Given the description of an element on the screen output the (x, y) to click on. 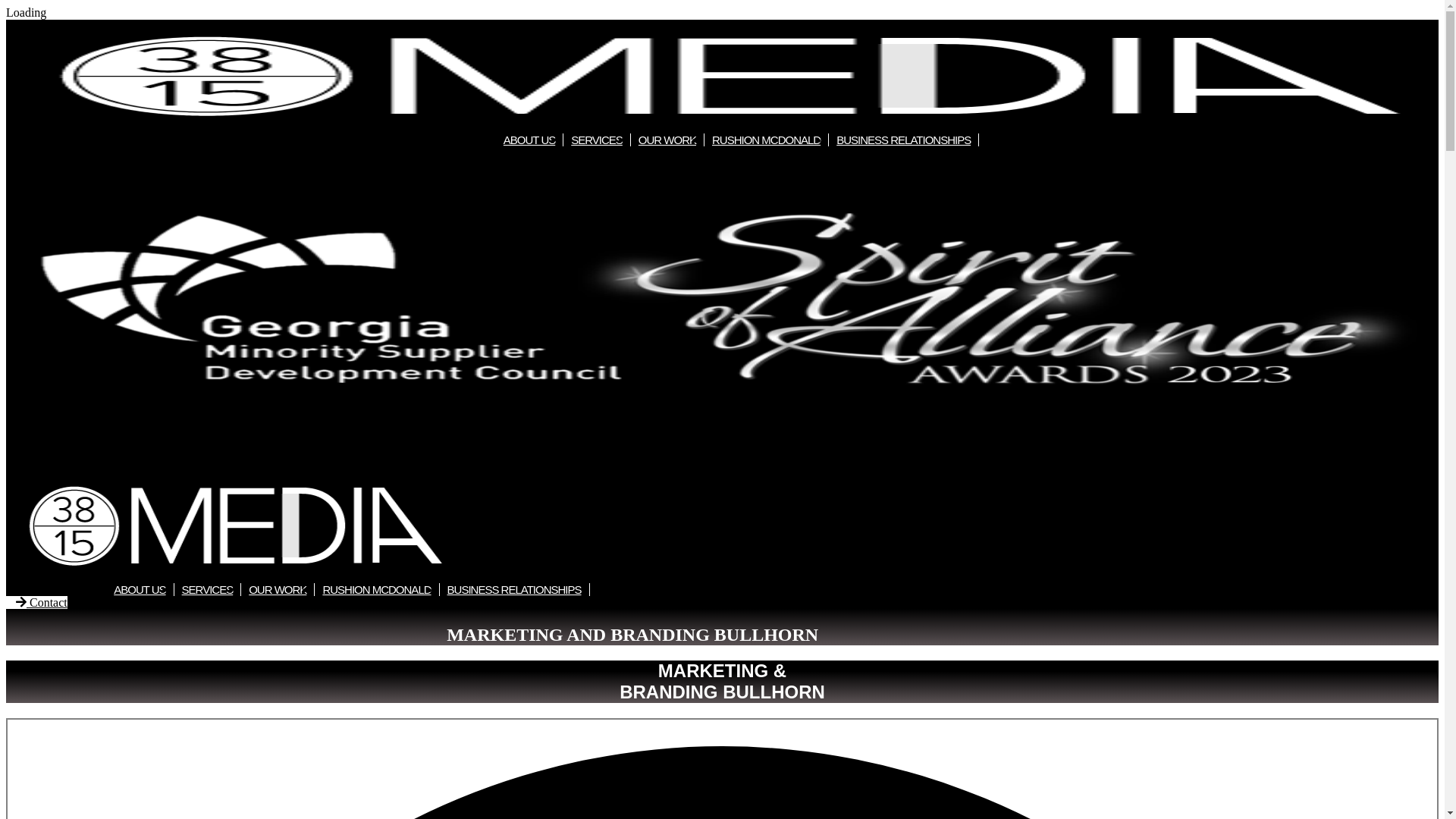
ABOUT US Element type: text (529, 139)
RUSHION MCDONALD Element type: text (766, 139)
BUSINESS RELATIONSHIPS Element type: text (514, 589)
Contact Element type: text (36, 602)
SERVICES Element type: text (596, 139)
OUR WORK Element type: text (277, 589)
SERVICES Element type: text (207, 589)
ABOUT US Element type: text (139, 589)
OUR WORK Element type: text (667, 139)
BUSINESS RELATIONSHIPS Element type: text (903, 139)
RUSHION MCDONALD Element type: text (376, 589)
